Given the description of an element on the screen output the (x, y) to click on. 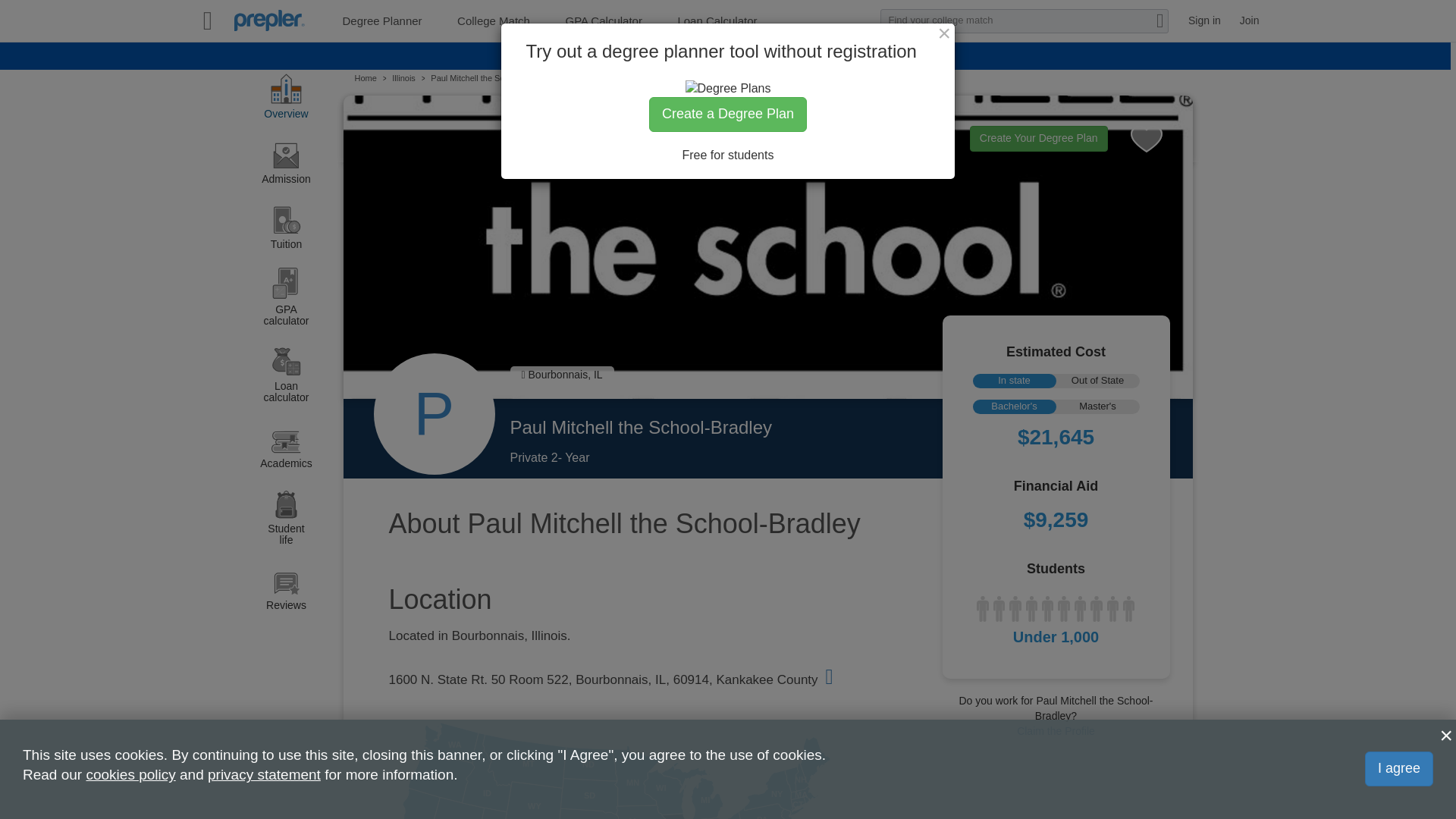
College Match (493, 20)
Create Your Degree Plan (1038, 138)
cookies policy (129, 774)
Degree Planner (382, 20)
Claim the Profile (1055, 731)
DONATE (804, 59)
GPA Calculator (603, 20)
Sign in (1204, 20)
Illinois (402, 78)
